Given the description of an element on the screen output the (x, y) to click on. 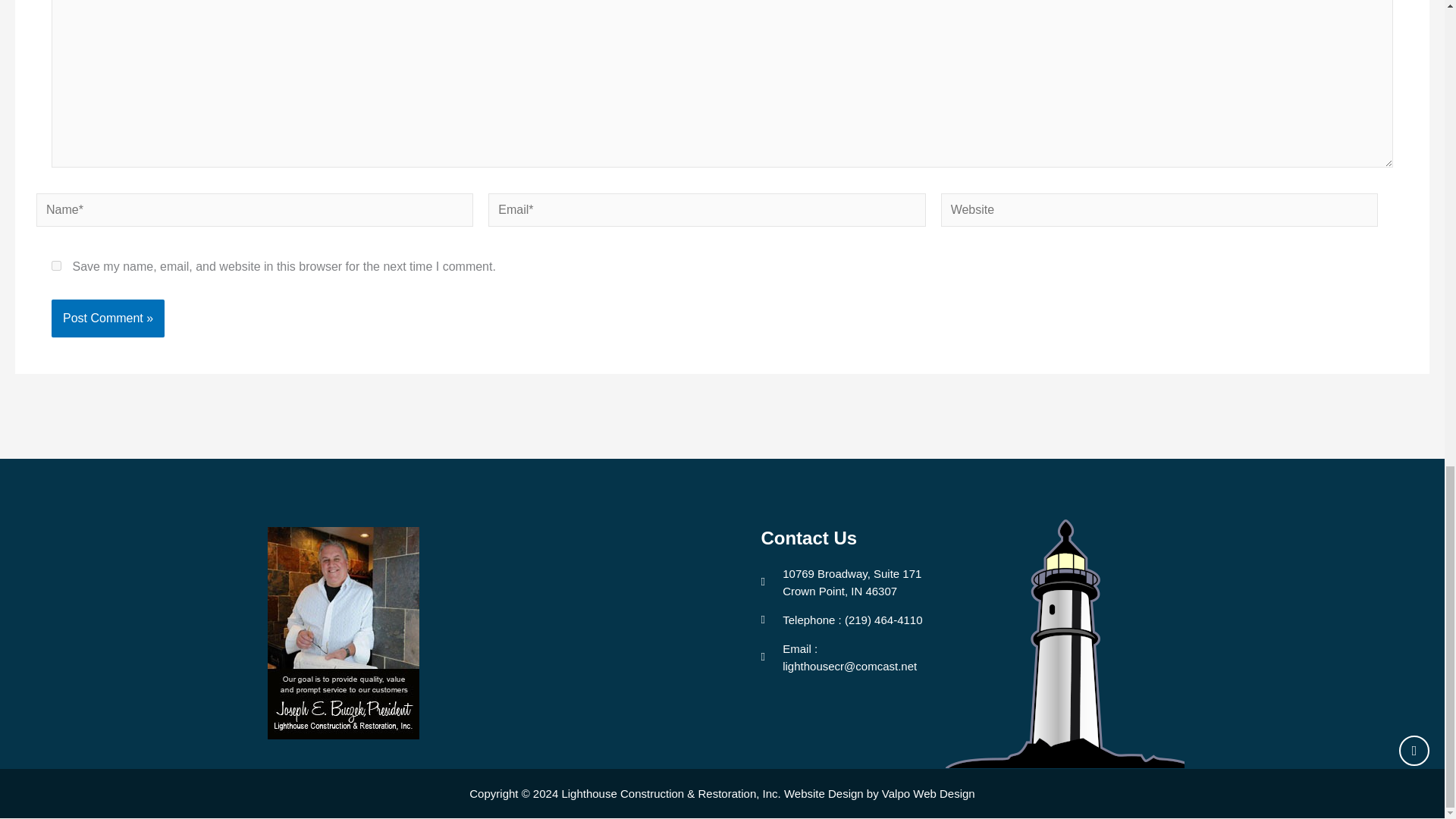
yes (55, 266)
